Given the description of an element on the screen output the (x, y) to click on. 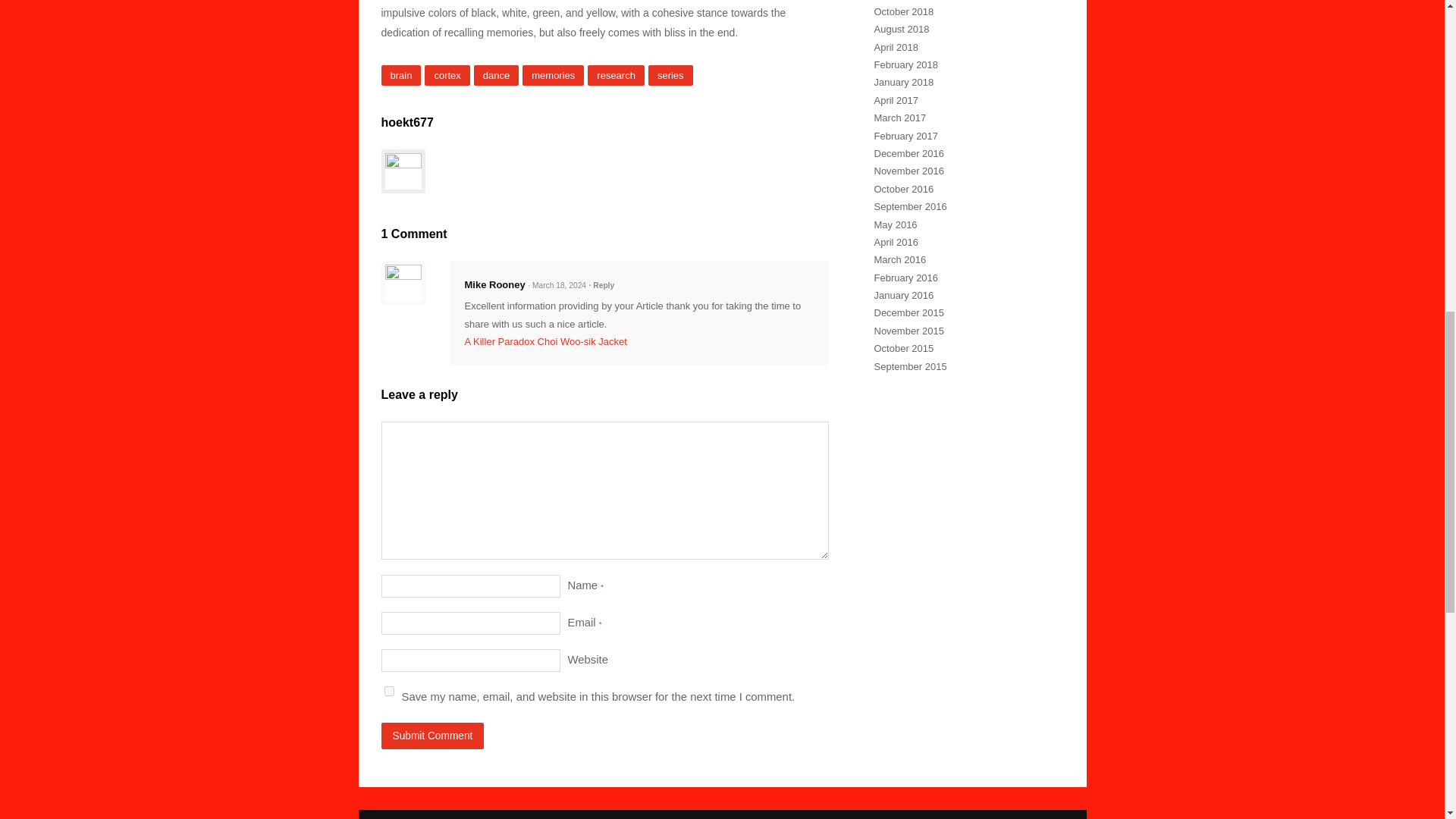
yes (388, 691)
Posts by hoekt677 (406, 122)
Submit Comment (431, 735)
